Given the description of an element on the screen output the (x, y) to click on. 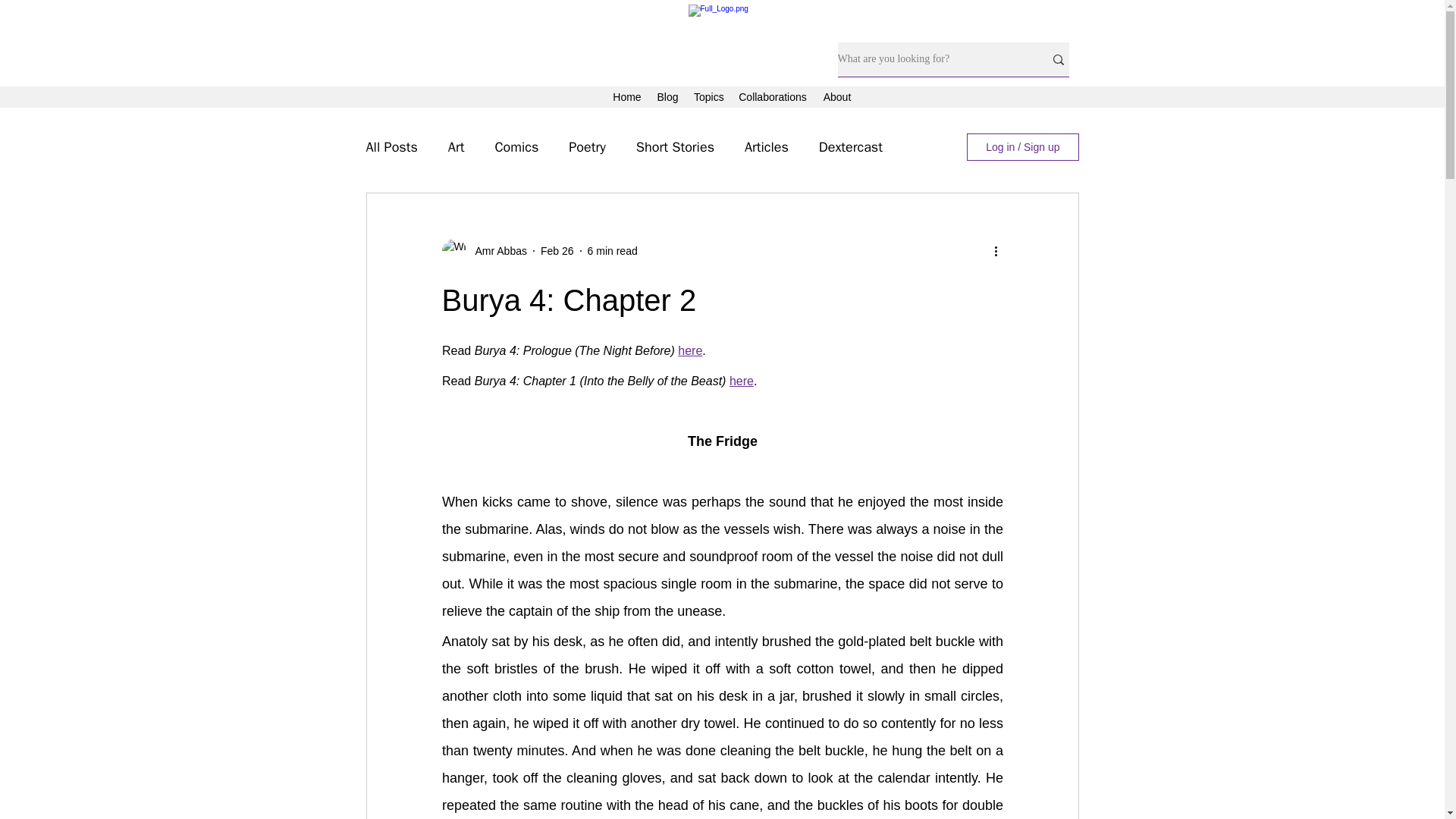
All Posts (390, 147)
Blog (667, 96)
Home (627, 96)
here (689, 350)
About (836, 96)
Dextercast (850, 147)
Collaborations (771, 96)
Feb 26 (556, 250)
Poetry (587, 147)
Art (456, 147)
Amr Abbas (495, 250)
6 min read (612, 250)
Short Stories (675, 147)
Articles (766, 147)
here (740, 380)
